Given the description of an element on the screen output the (x, y) to click on. 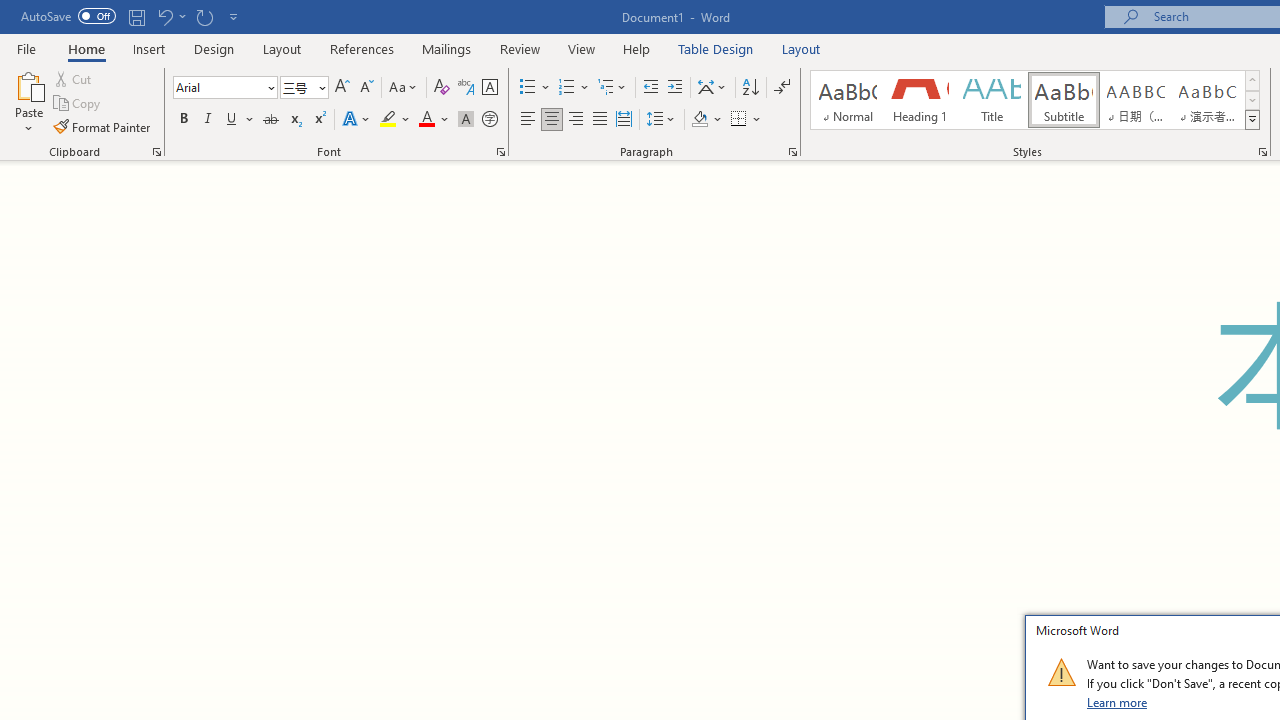
Styles (1252, 120)
Line and Paragraph Spacing (661, 119)
References (362, 48)
Undo Paste (170, 15)
Italic (207, 119)
Office Clipboard... (156, 151)
Text Highlight Color (395, 119)
